Given the description of an element on the screen output the (x, y) to click on. 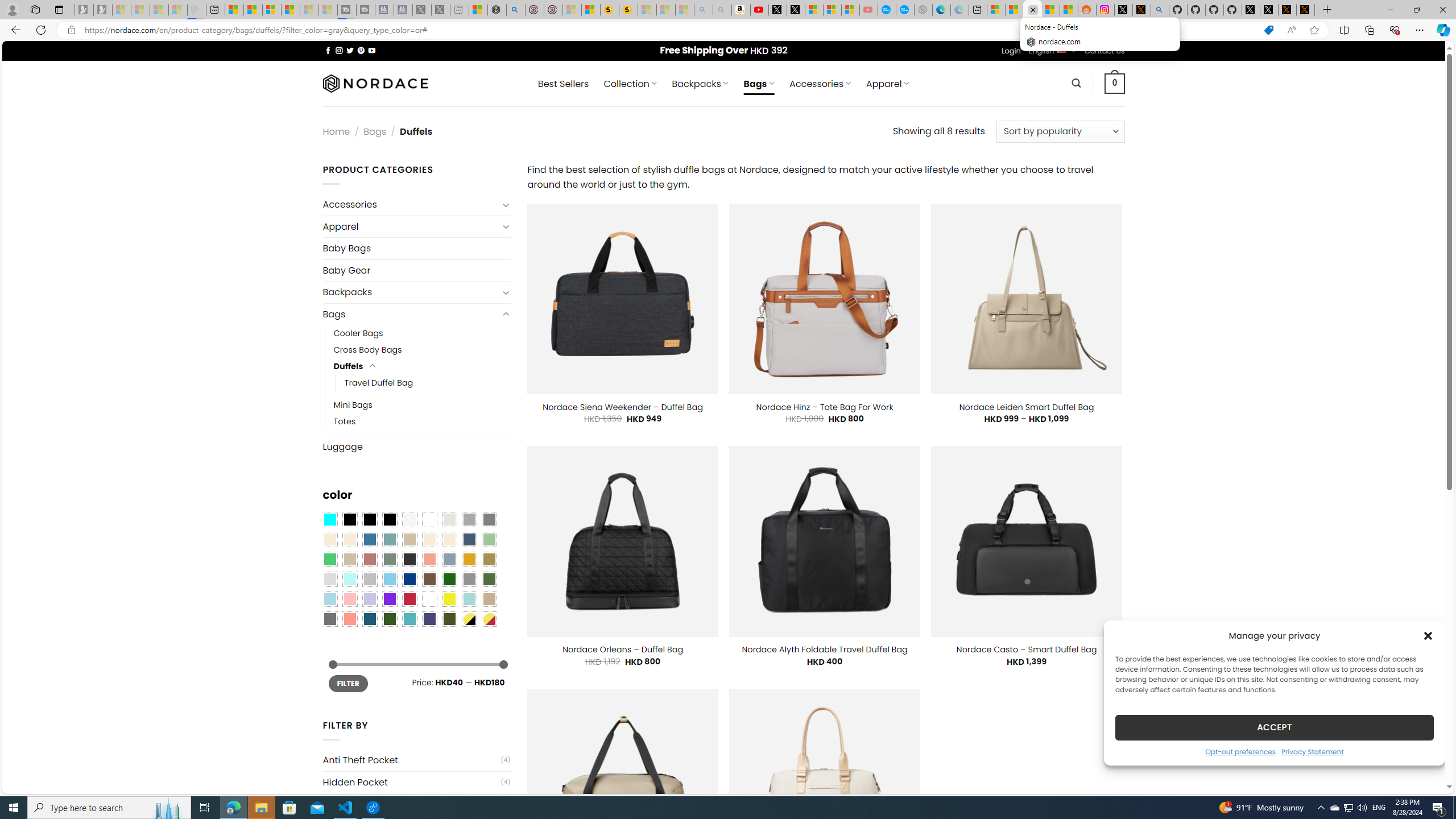
Totes (344, 420)
Baby Gear (416, 270)
English (1061, 49)
Aqua (468, 599)
Opinion: Op-Ed and Commentary - USA TODAY (887, 9)
Apparel (410, 226)
Luggage (416, 445)
